Given the description of an element on the screen output the (x, y) to click on. 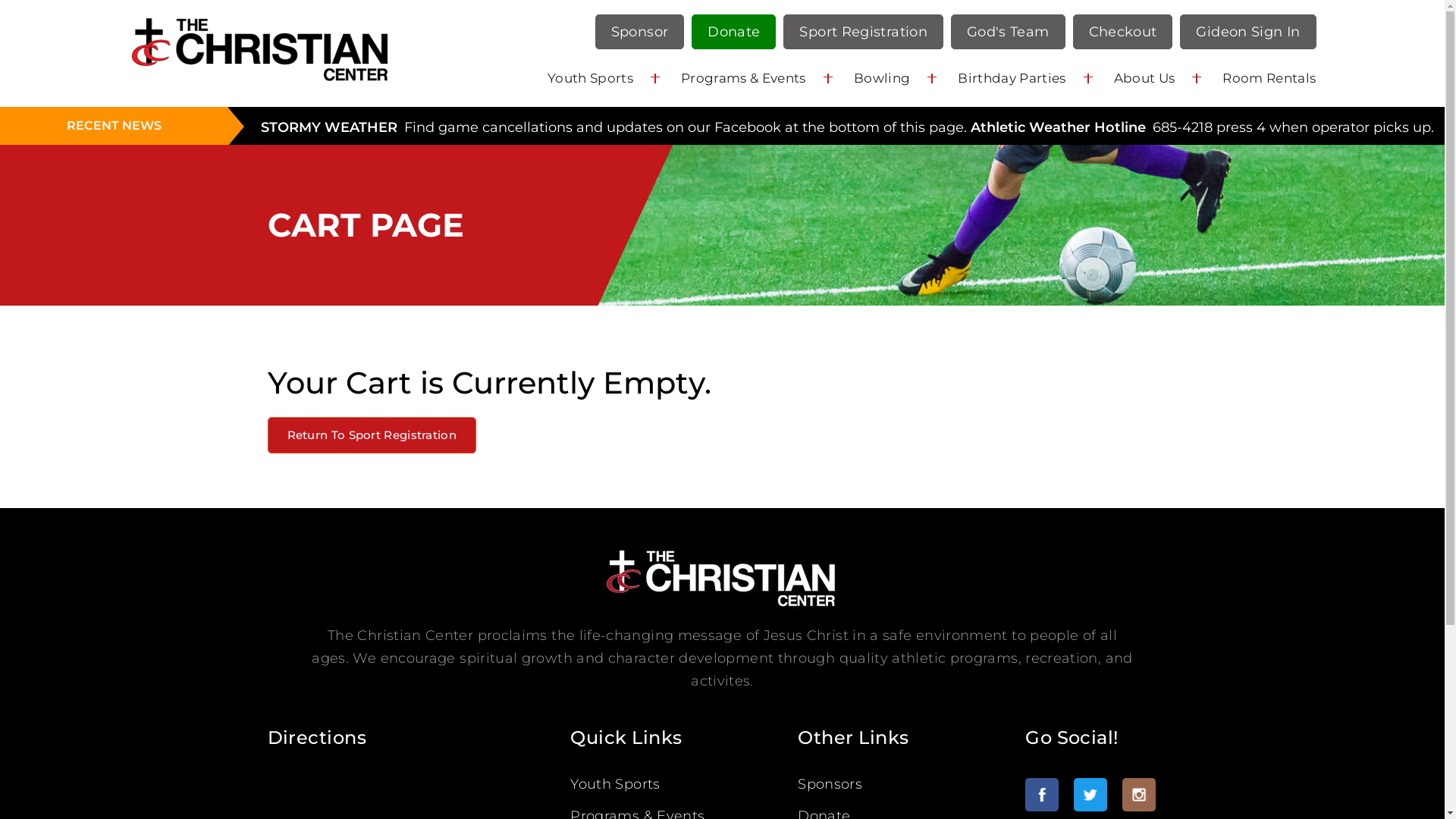
Youth Sports Element type: text (590, 77)
Room Rentals Element type: text (1268, 77)
Programs & Events Element type: text (743, 77)
Donate Element type: text (733, 31)
Sponsors Element type: text (829, 783)
Gideon Sign In Element type: text (1247, 31)
About Us Element type: text (1144, 77)
Sponsor Element type: text (639, 31)
Checkout Element type: text (1123, 31)
Return To Sport Registration Element type: text (370, 435)
Youth Sports Element type: text (614, 783)
Birthday Parties Element type: text (1011, 77)
Sport Registration Element type: text (862, 31)
God's Team Element type: text (1007, 31)
Bowling Element type: text (881, 77)
